Given the description of an element on the screen output the (x, y) to click on. 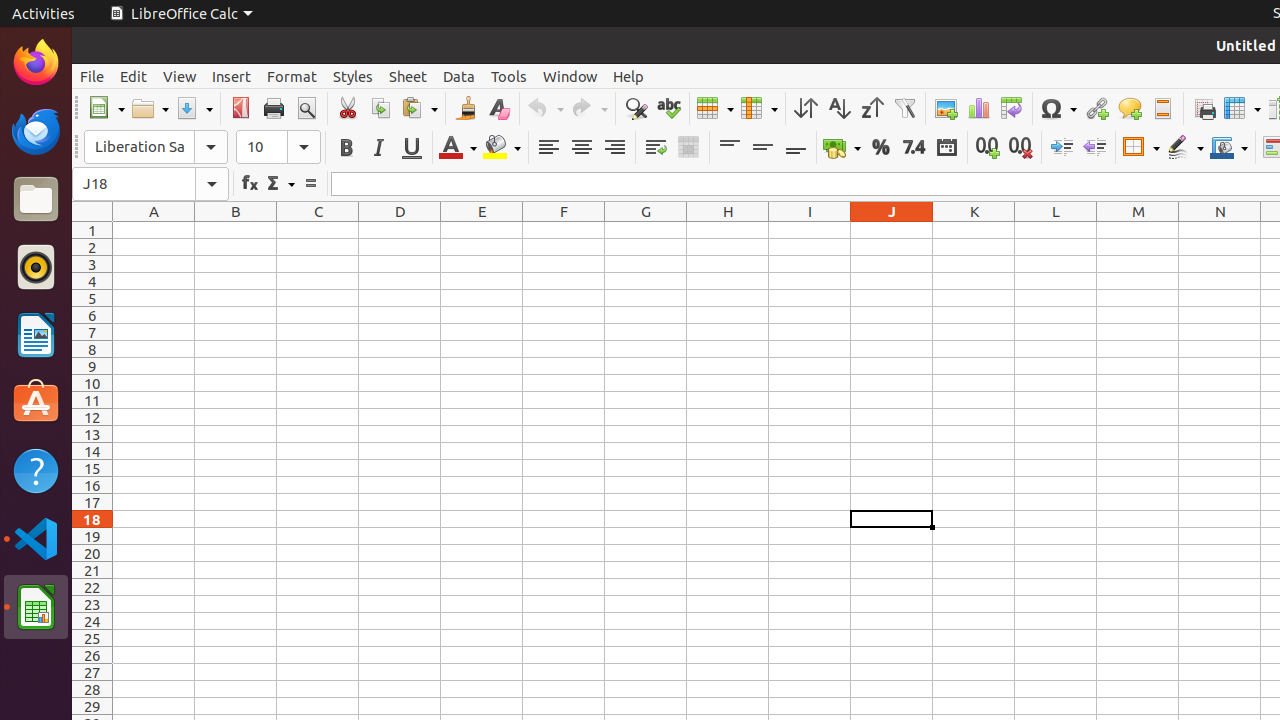
Decrease Element type: push-button (1094, 147)
Number Element type: push-button (913, 147)
A1 Element type: table-cell (154, 230)
Border Style Element type: push-button (1185, 147)
